Given the description of an element on the screen output the (x, y) to click on. 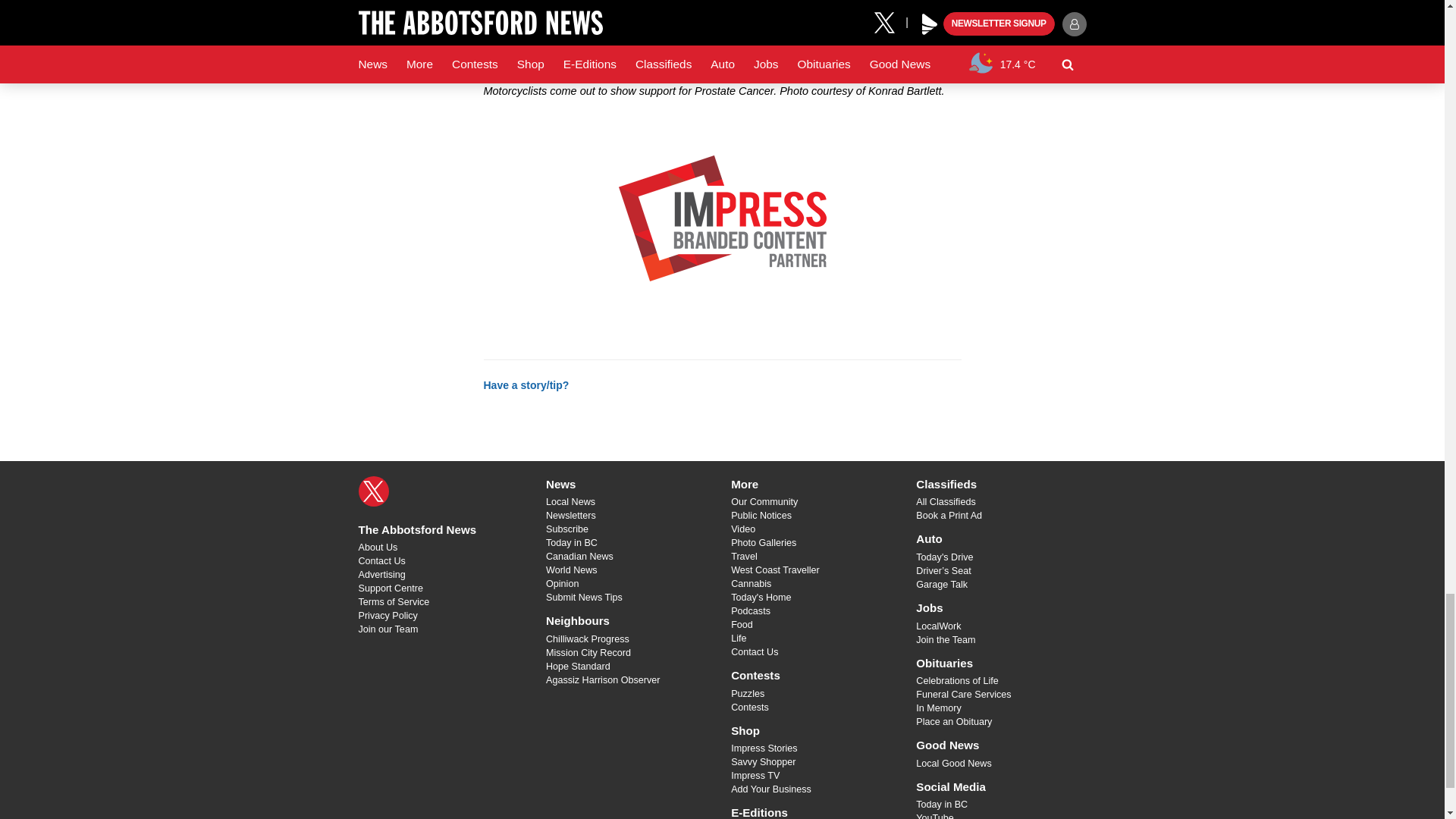
X (373, 490)
